Given the description of an element on the screen output the (x, y) to click on. 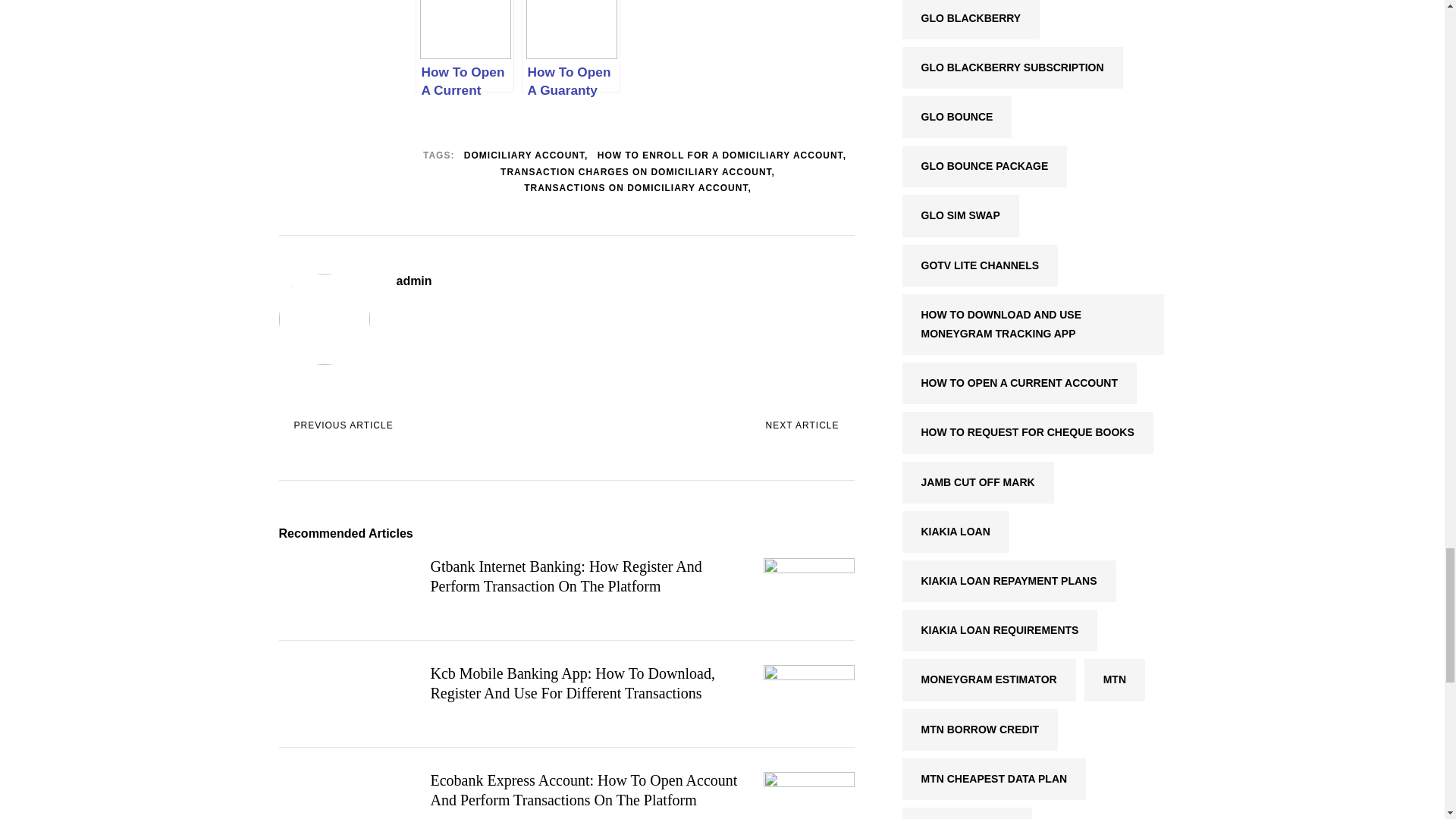
TRANSACTION CHARGES ON DOMICILIARY ACCOUNT (637, 172)
PREVIOUS ARTICLE (336, 425)
HOW TO ENROLL FOR A DOMICILIARY ACCOUNT (720, 156)
DOMICILIARY ACCOUNT (526, 156)
TRANSACTIONS ON DOMICILIARY ACCOUNT (637, 188)
NEXT ARTICLE (809, 425)
